Given the description of an element on the screen output the (x, y) to click on. 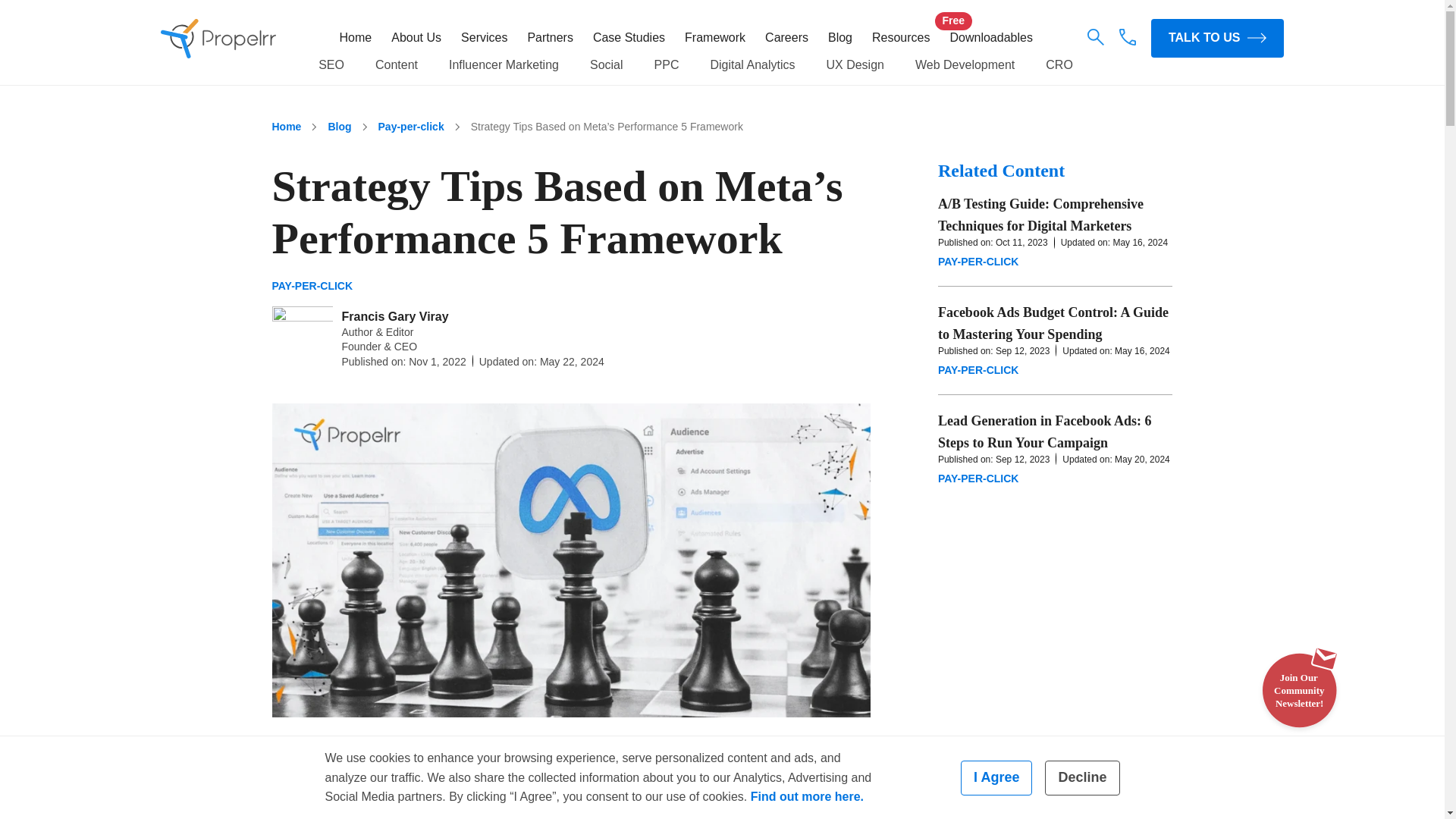
PPC (666, 65)
Social (606, 65)
Partners (549, 37)
Careers (786, 37)
Influencer Marketing (503, 65)
Home (285, 126)
About Us (416, 37)
Pay-per-click (411, 126)
UX Design (854, 65)
Resources (901, 37)
TALK TO US (1217, 37)
Digital Analytics (752, 65)
SEO (330, 65)
Blog (839, 37)
CRO (1059, 65)
